Given the description of an element on the screen output the (x, y) to click on. 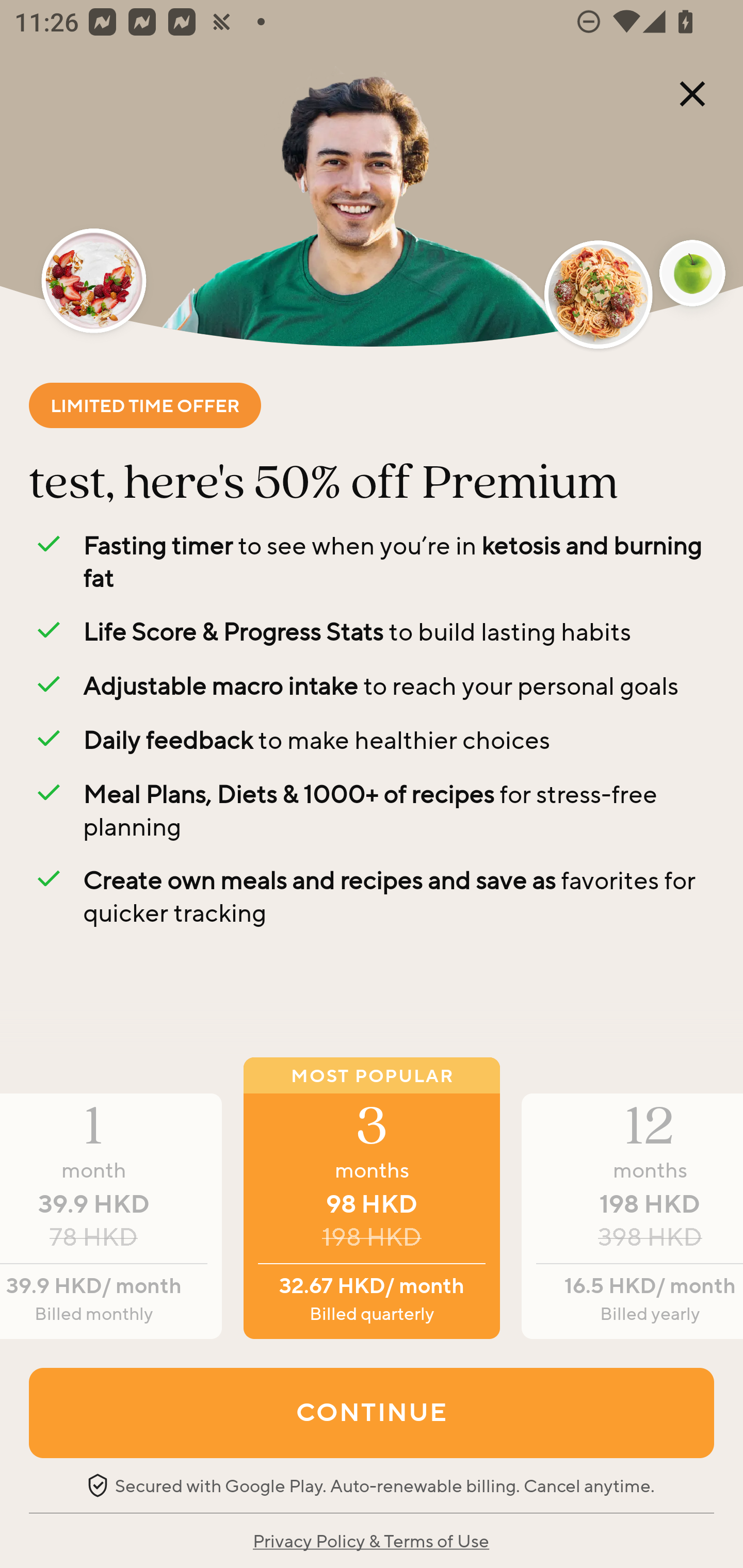
CONTINUE (371, 1412)
Privacy Policy & Terms of Use (370, 1540)
